Given the description of an element on the screen output the (x, y) to click on. 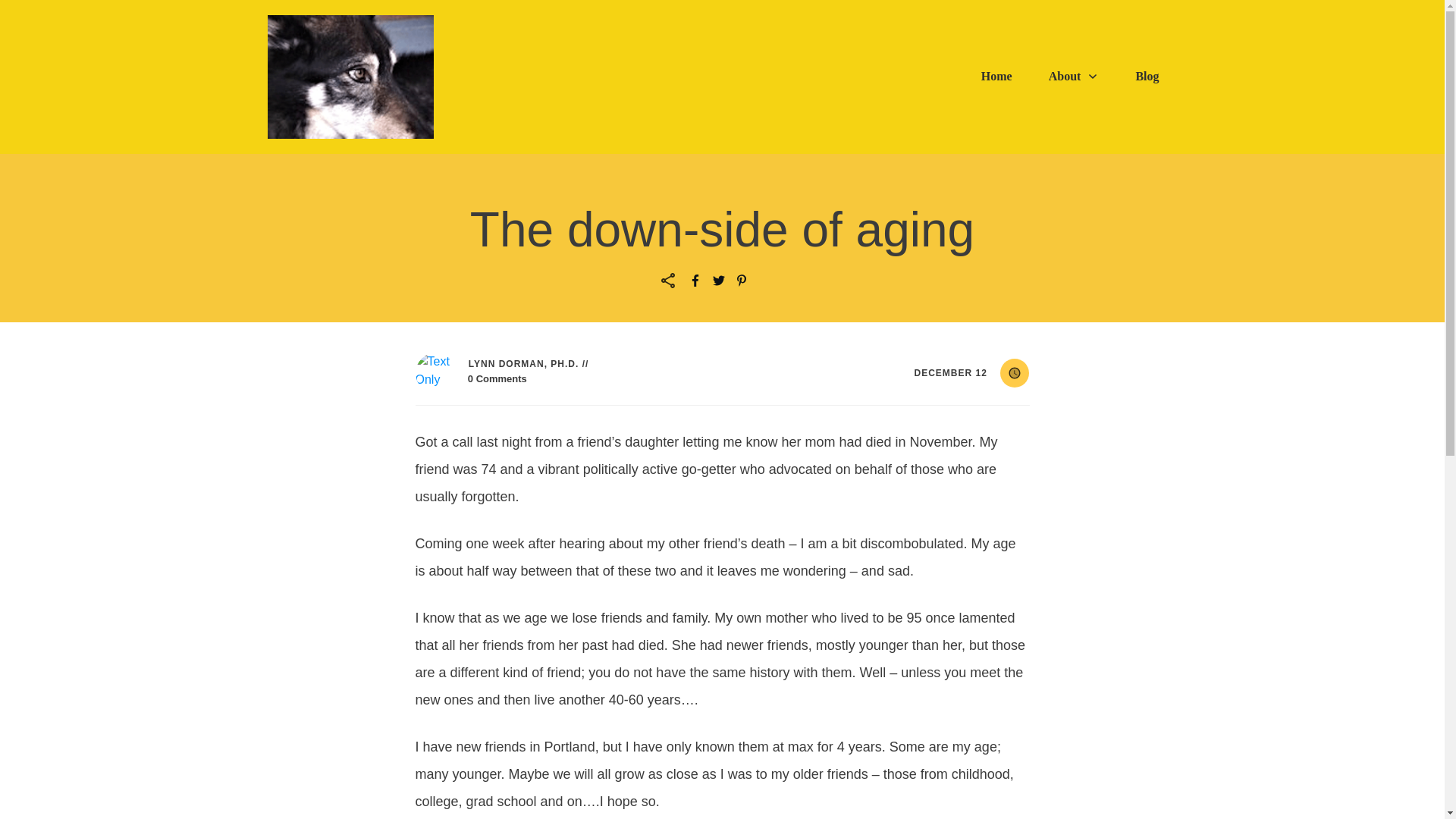
Home (996, 76)
Blog (1146, 76)
About (1073, 76)
Text Only (435, 372)
